Given the description of an element on the screen output the (x, y) to click on. 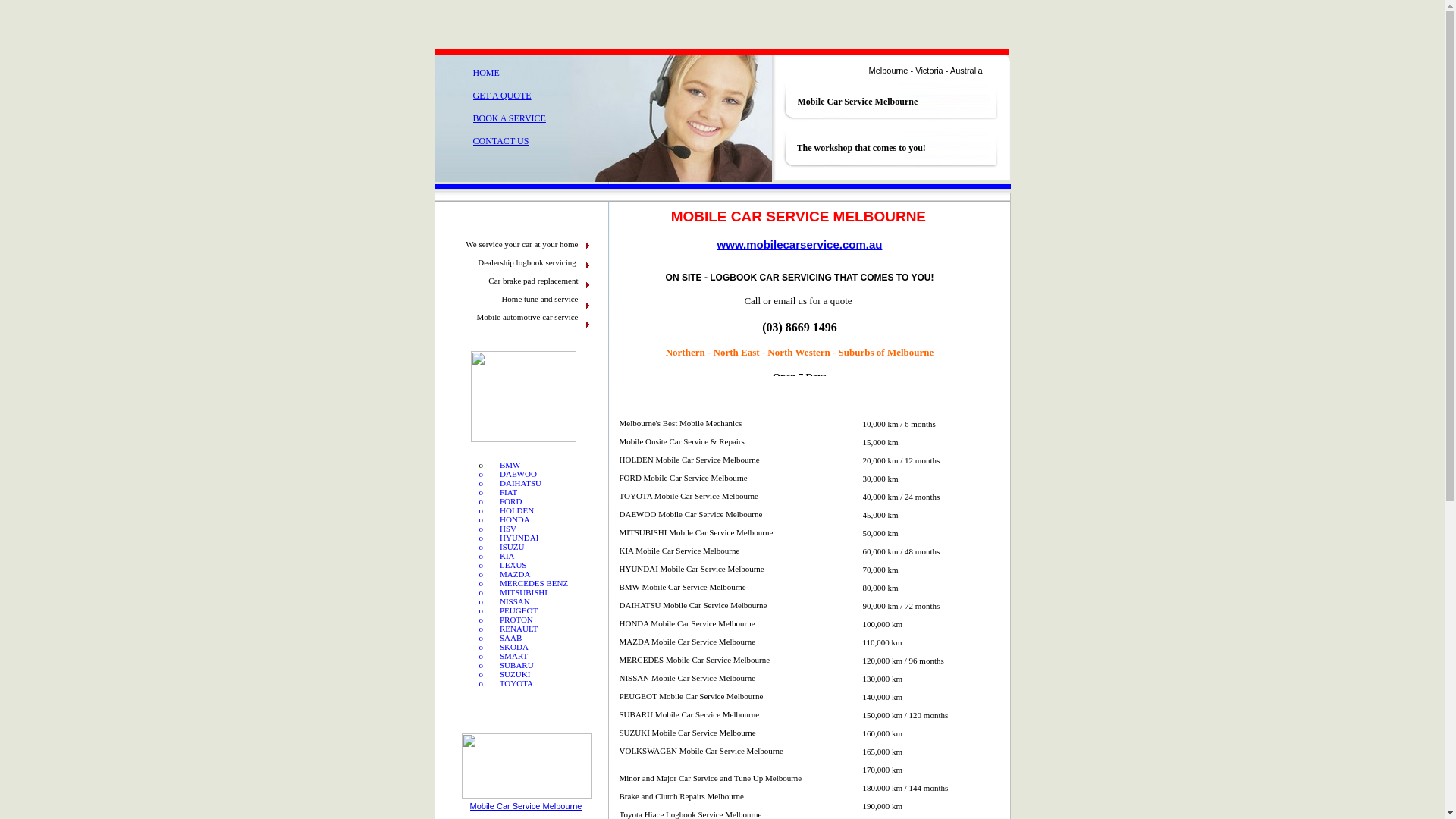
www.mobilecarservice.com.au Element type: text (799, 244)
HOME Element type: text (486, 72)
Mobile Car Service Melbourne Element type: text (526, 805)
GET A QUOTE Element type: text (502, 95)
BOOK A SERVICE Element type: text (509, 117)
CONTACT US Element type: text (501, 140)
